Given the description of an element on the screen output the (x, y) to click on. 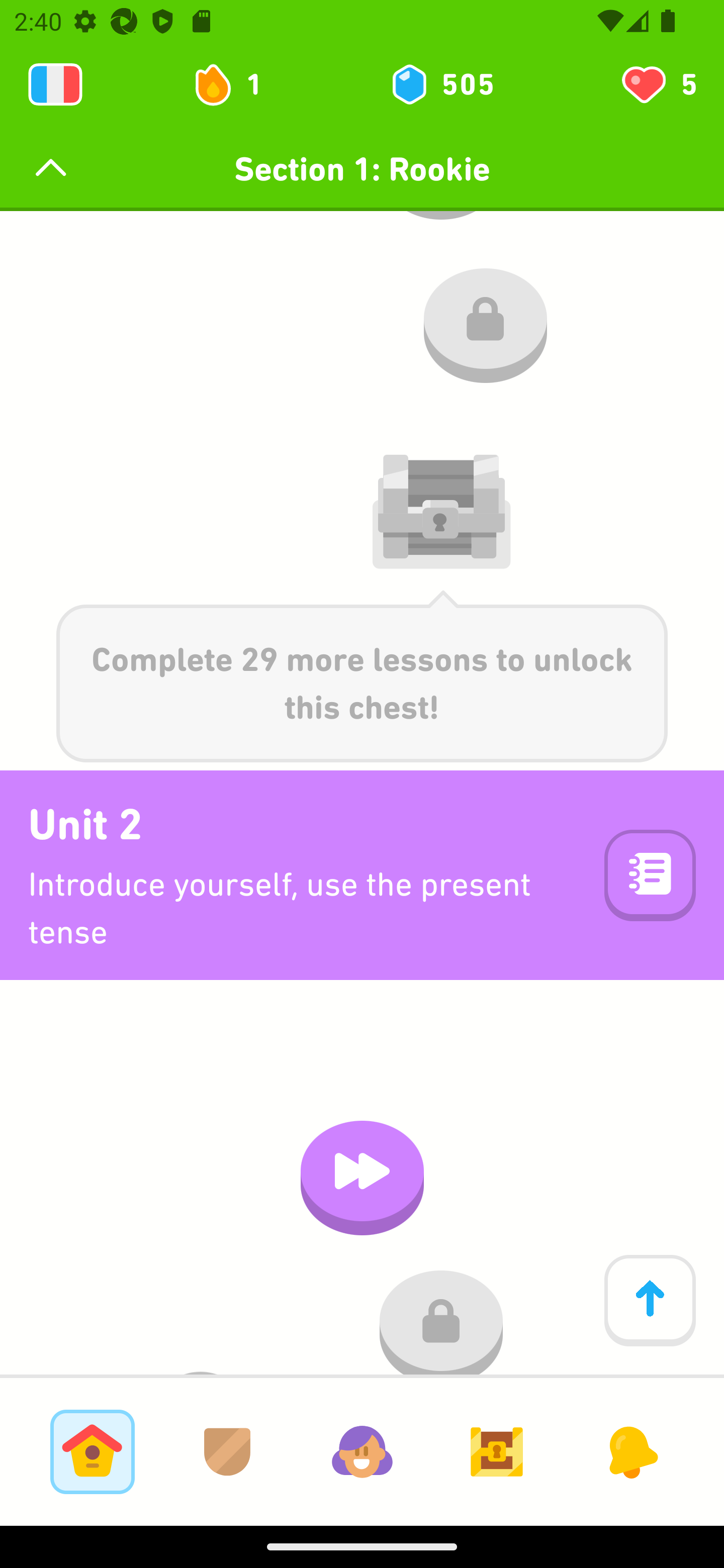
Learning 2131888976 (55, 84)
1 day streak 1 (236, 84)
505 (441, 84)
You have 5 hearts left 5 (657, 84)
Section 1: Rookie (362, 169)
Complete 29 more lessons to unlock this chest! (361, 676)
Learn Tab (91, 1451)
Leagues Tab (227, 1451)
Profile Tab (361, 1451)
Goals Tab (496, 1451)
News Tab (631, 1451)
